Given the description of an element on the screen output the (x, y) to click on. 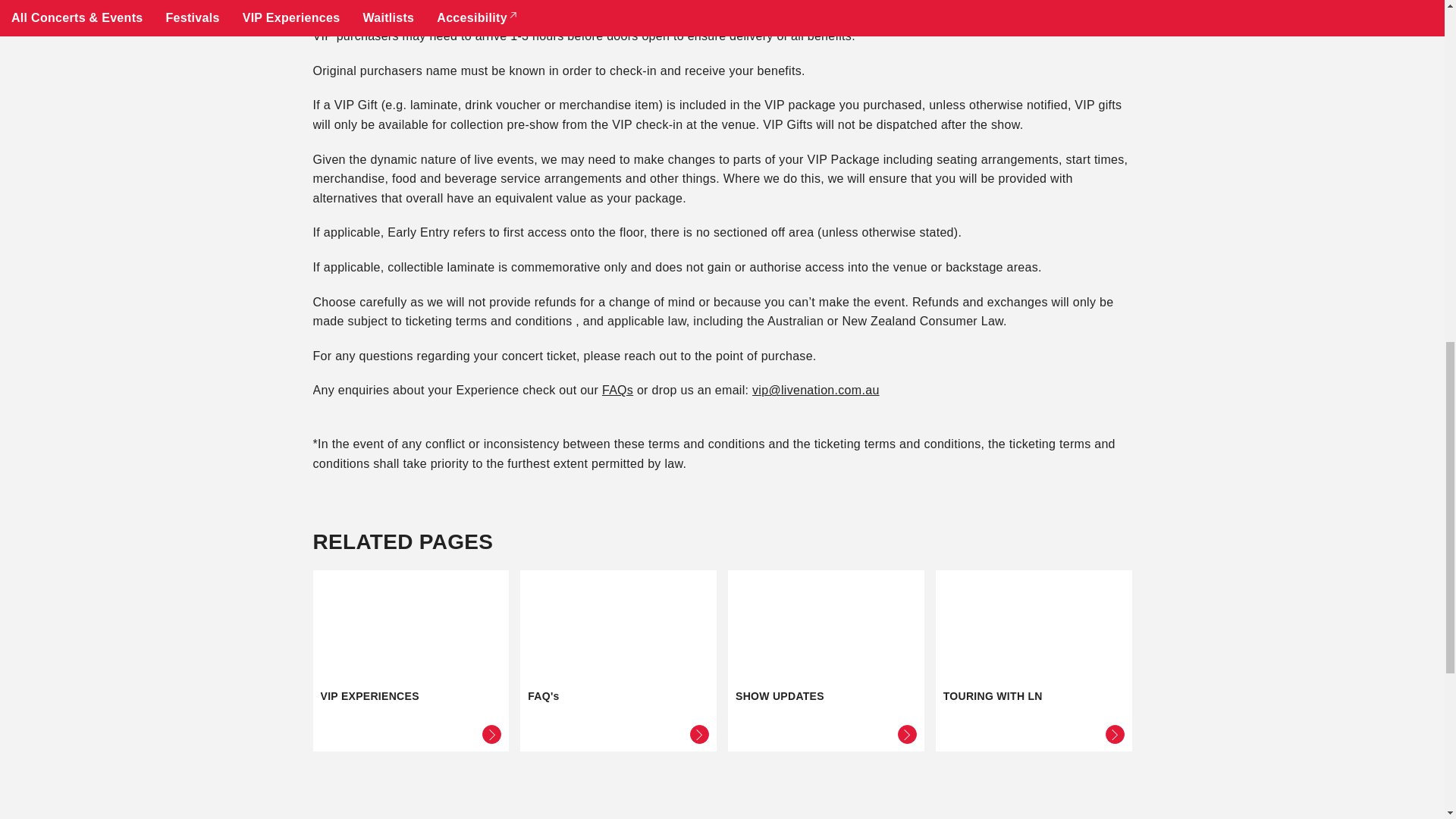
FAQs (826, 661)
